Given the description of an element on the screen output the (x, y) to click on. 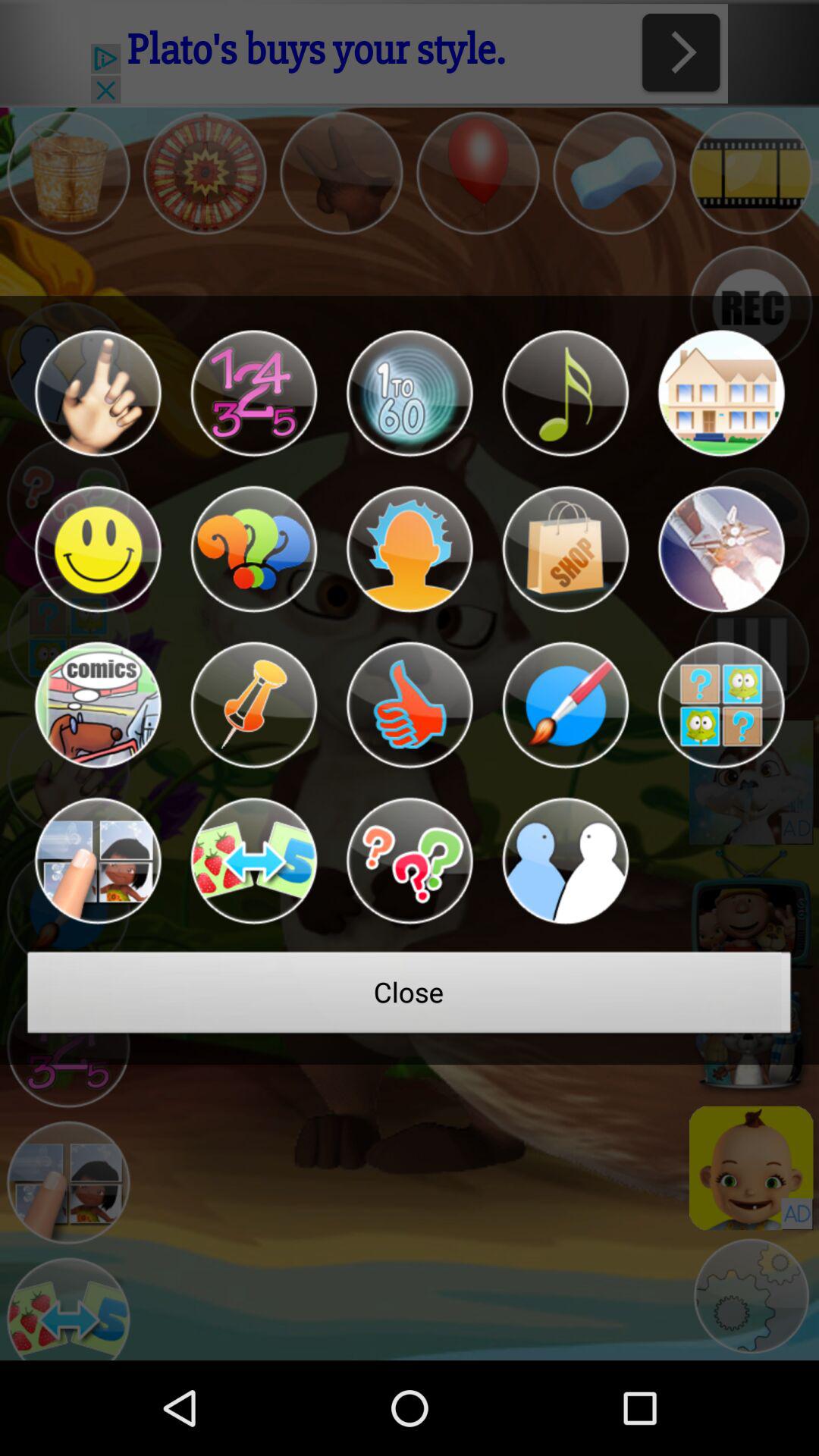
solve questions (409, 861)
